Given the description of an element on the screen output the (x, y) to click on. 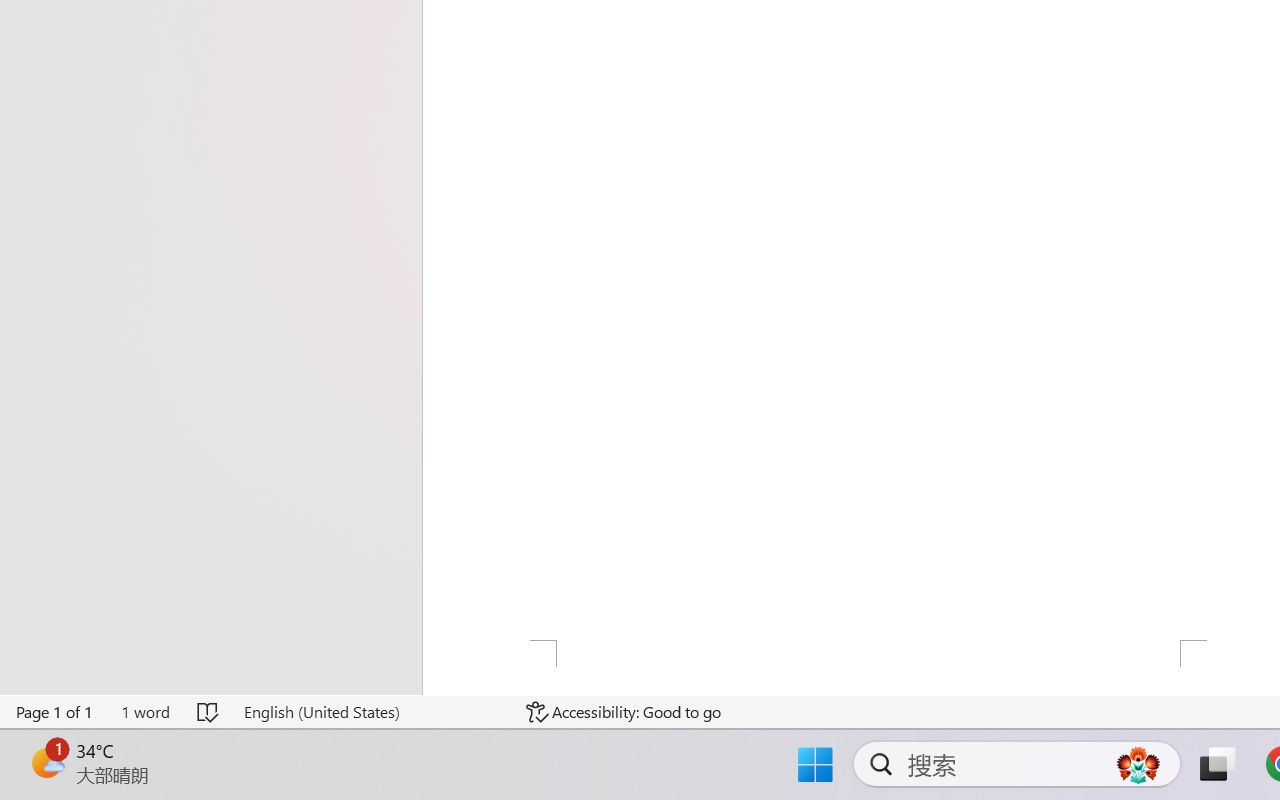
AutomationID: BadgeAnchorLargeTicker (46, 762)
Language English (United States) (370, 712)
Word Count 1 word (145, 712)
Spelling and Grammar Check No Errors (208, 712)
AutomationID: DynamicSearchBoxGleamImage (1138, 764)
Accessibility Checker Accessibility: Good to go (623, 712)
Page Number Page 1 of 1 (55, 712)
